Given the description of an element on the screen output the (x, y) to click on. 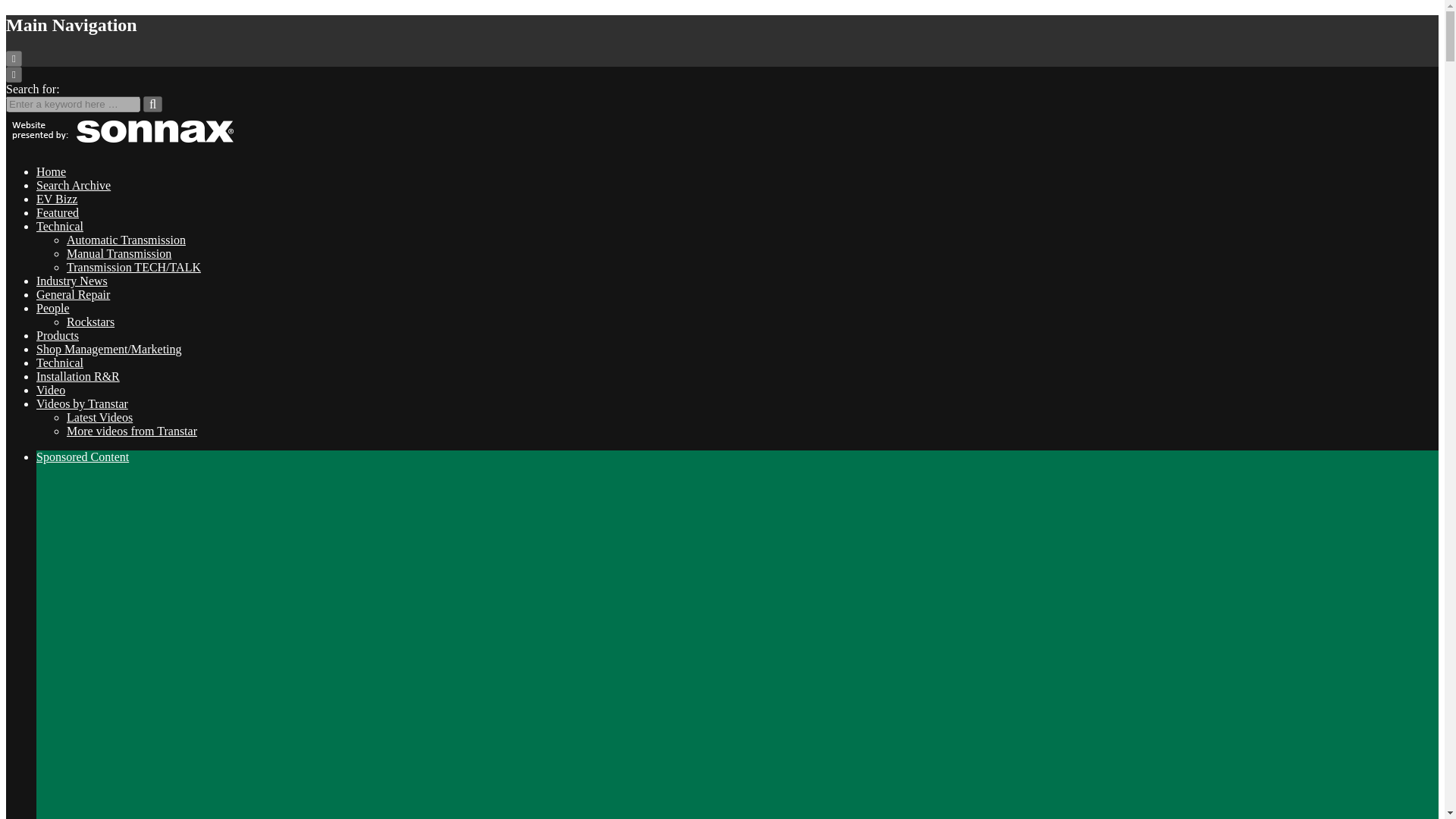
Manual Transmission (118, 253)
Industry News (71, 280)
Technical (59, 362)
Automatic Transmission (126, 239)
Featured (57, 212)
Products (57, 335)
People (52, 308)
Home (50, 171)
Video (50, 390)
Industry News (71, 280)
People (52, 308)
Technical (59, 226)
Search Archive (73, 185)
Search Archive (73, 185)
